Given the description of an element on the screen output the (x, y) to click on. 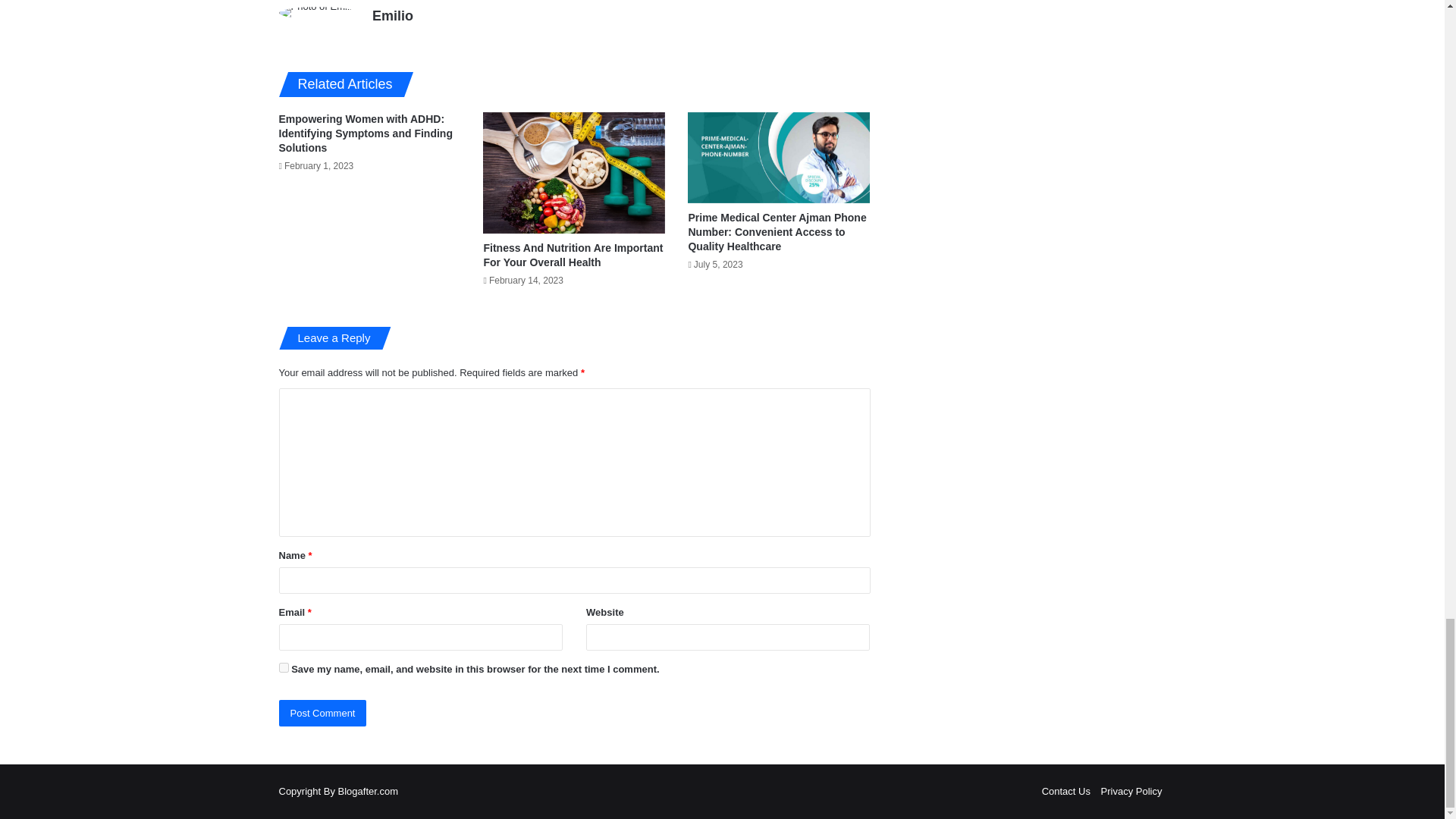
Emilio (392, 15)
Post Comment (322, 713)
yes (283, 667)
Fitness And Nutrition Are Important For Your Overall Health (572, 254)
